Given the description of an element on the screen output the (x, y) to click on. 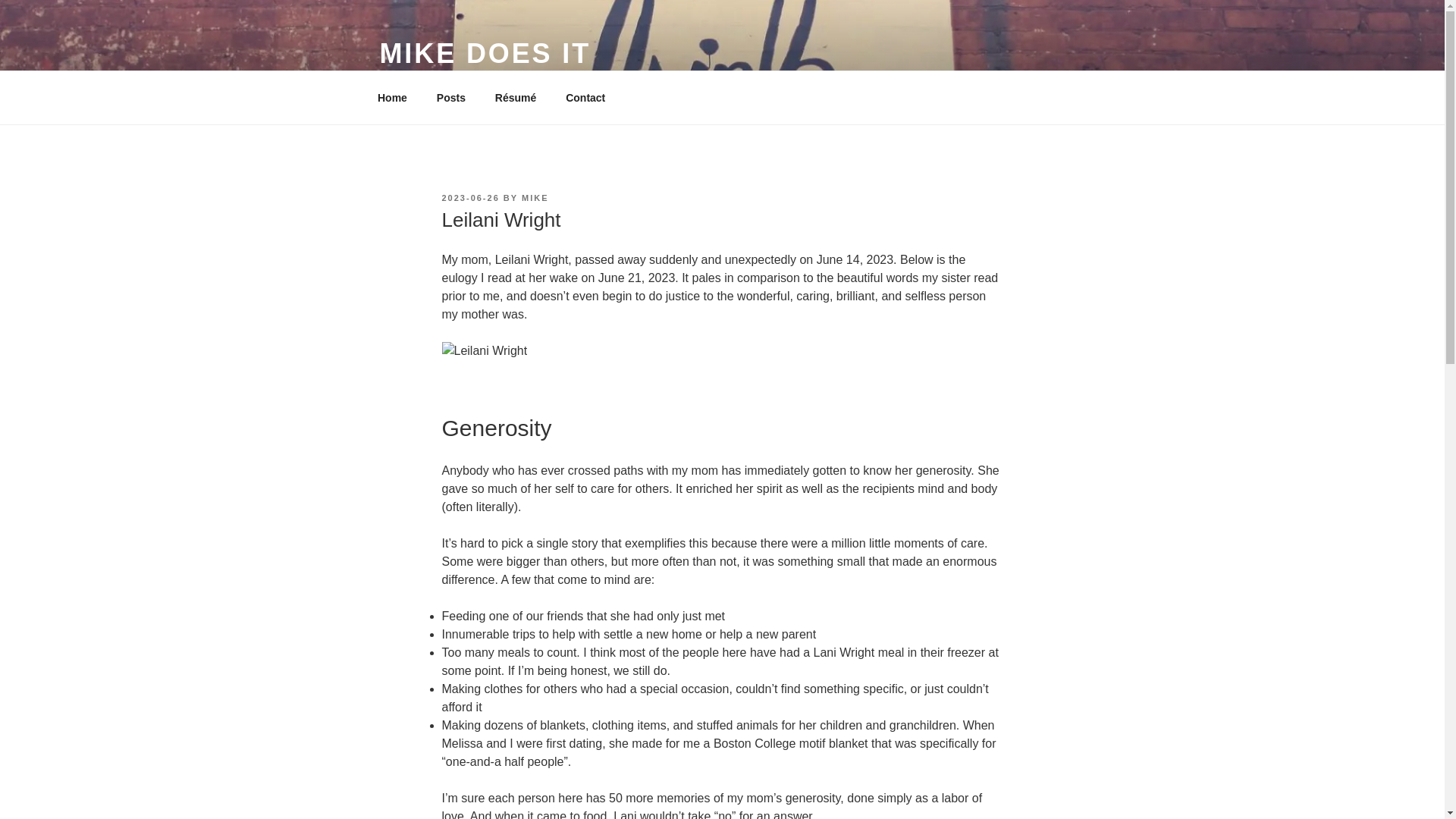
2023-06-26 (470, 197)
Posts (451, 97)
Contact (585, 97)
Home (392, 97)
MIKE (534, 197)
MIKE DOES IT (484, 52)
